Given the description of an element on the screen output the (x, y) to click on. 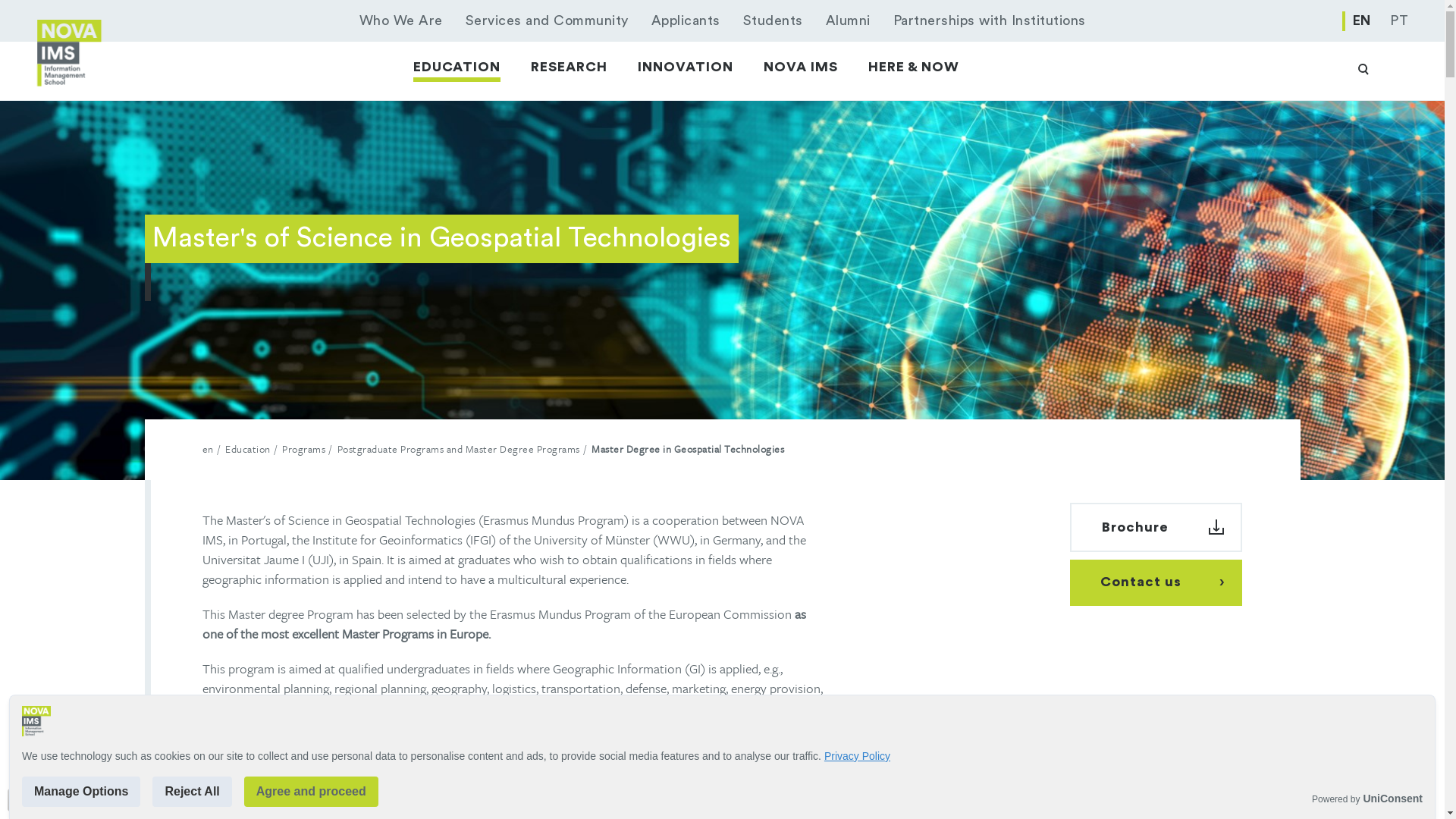
Manage Options (80, 791)
Privacy Policy (856, 756)
EDUCATION (456, 66)
Call for Applications (809, 765)
Reject All (191, 791)
UniConsent Consent Manager (1392, 798)
UniConsent (1392, 798)
Manage Consent (18, 799)
RESEARCH (569, 66)
Agree and proceed (311, 791)
